Given the description of an element on the screen output the (x, y) to click on. 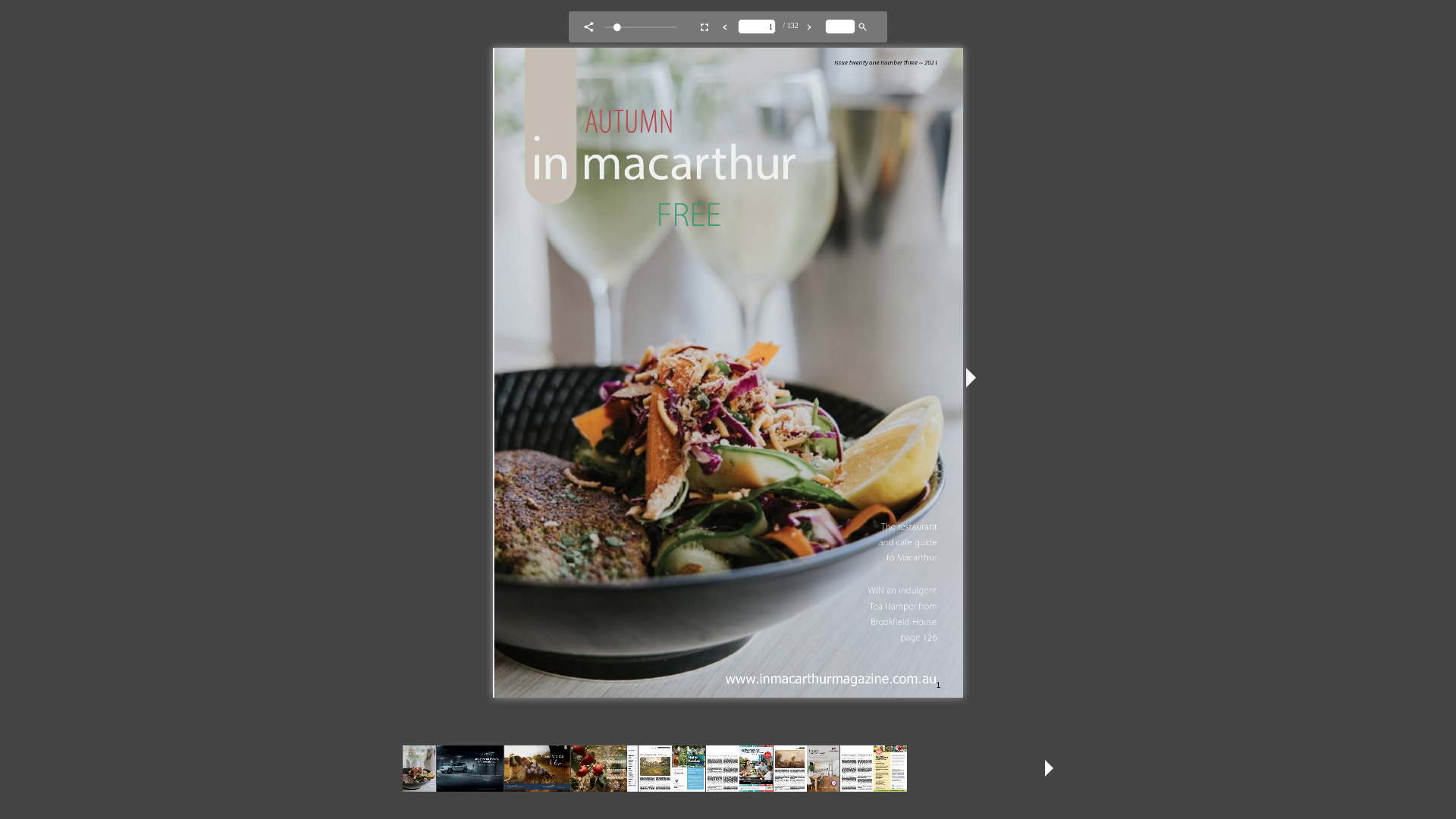
Fullscreen  Element type: hover (704, 27)
Scale  Element type: hover (646, 26)
Search  Element type: hover (840, 26)
Current Page  Element type: hover (756, 26)
Previous Page Element type: hover (724, 27)
Next Page  Element type: hover (808, 27)
Search  Element type: hover (862, 26)
